Given the description of an element on the screen output the (x, y) to click on. 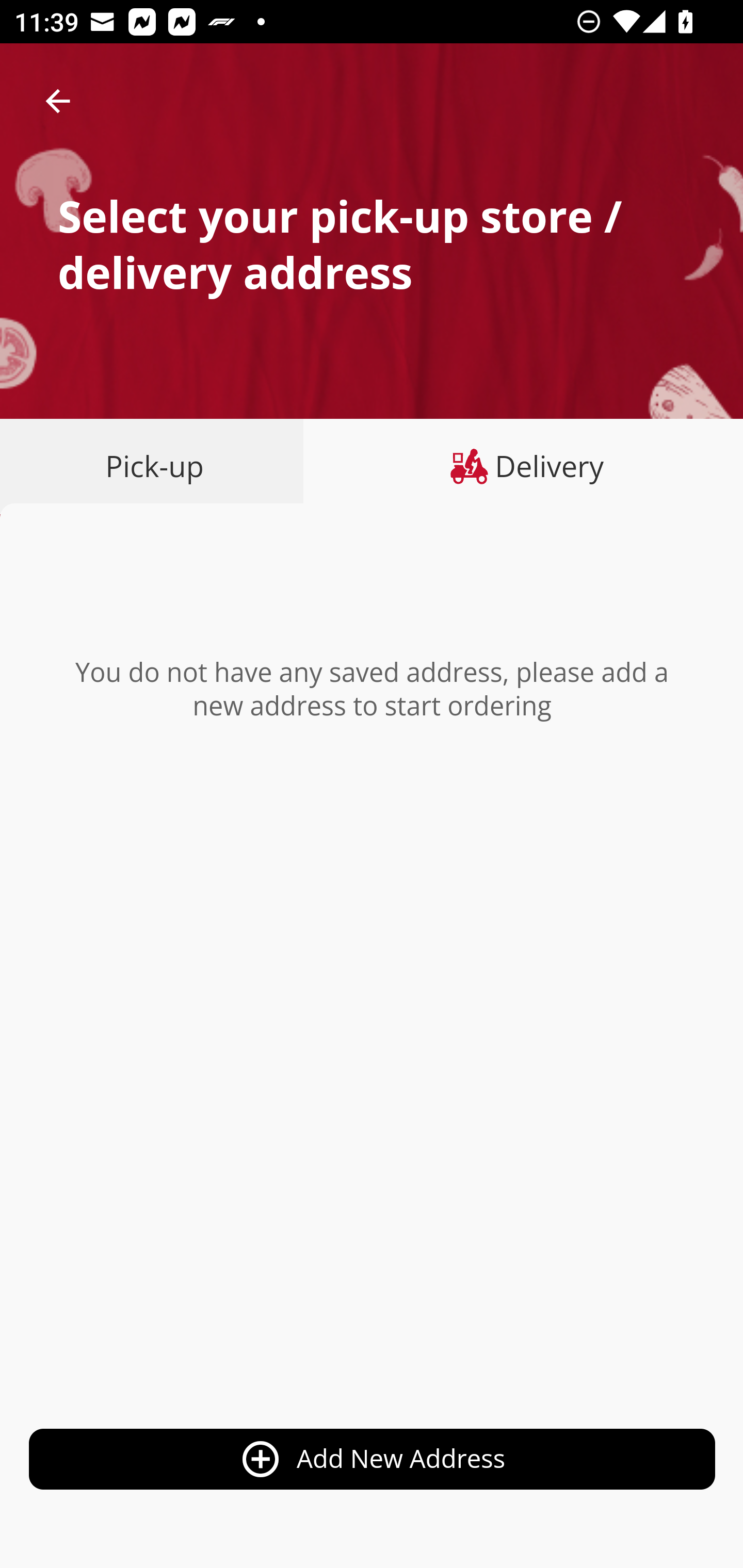
arrow_back (58, 100)
prev next Pick-up Delivery (371, 467)
Delivery (523, 466)
add_circle_outline Add New Address (372, 1459)
